Given the description of an element on the screen output the (x, y) to click on. 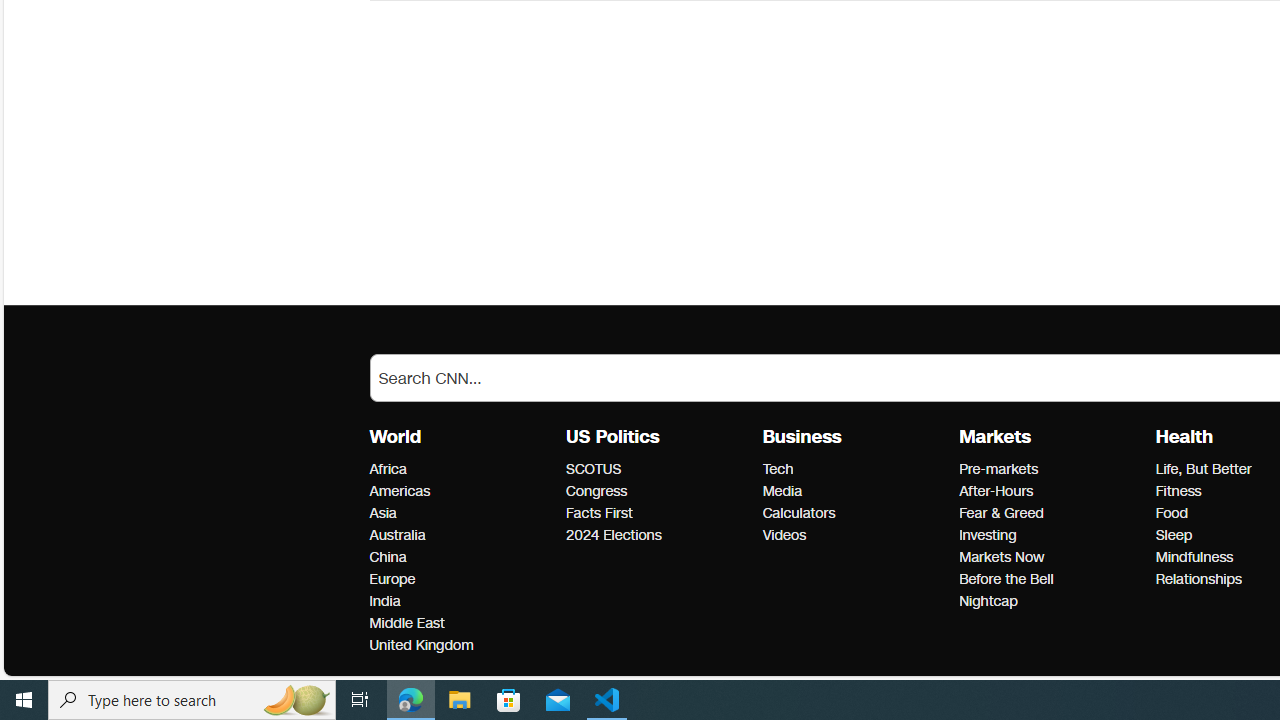
Markets Investing (987, 535)
Markets Markets Now (1001, 557)
Business Calculators (798, 512)
US Politics (612, 437)
Calculators (854, 513)
Health Food (1171, 512)
Americas (461, 492)
World Europe (392, 579)
Business Videos (783, 535)
Fear & Greed (1051, 513)
Business Tech (777, 469)
Health Mindfulness (1193, 557)
Markets Fear & Greed (1001, 512)
